Given the description of an element on the screen output the (x, y) to click on. 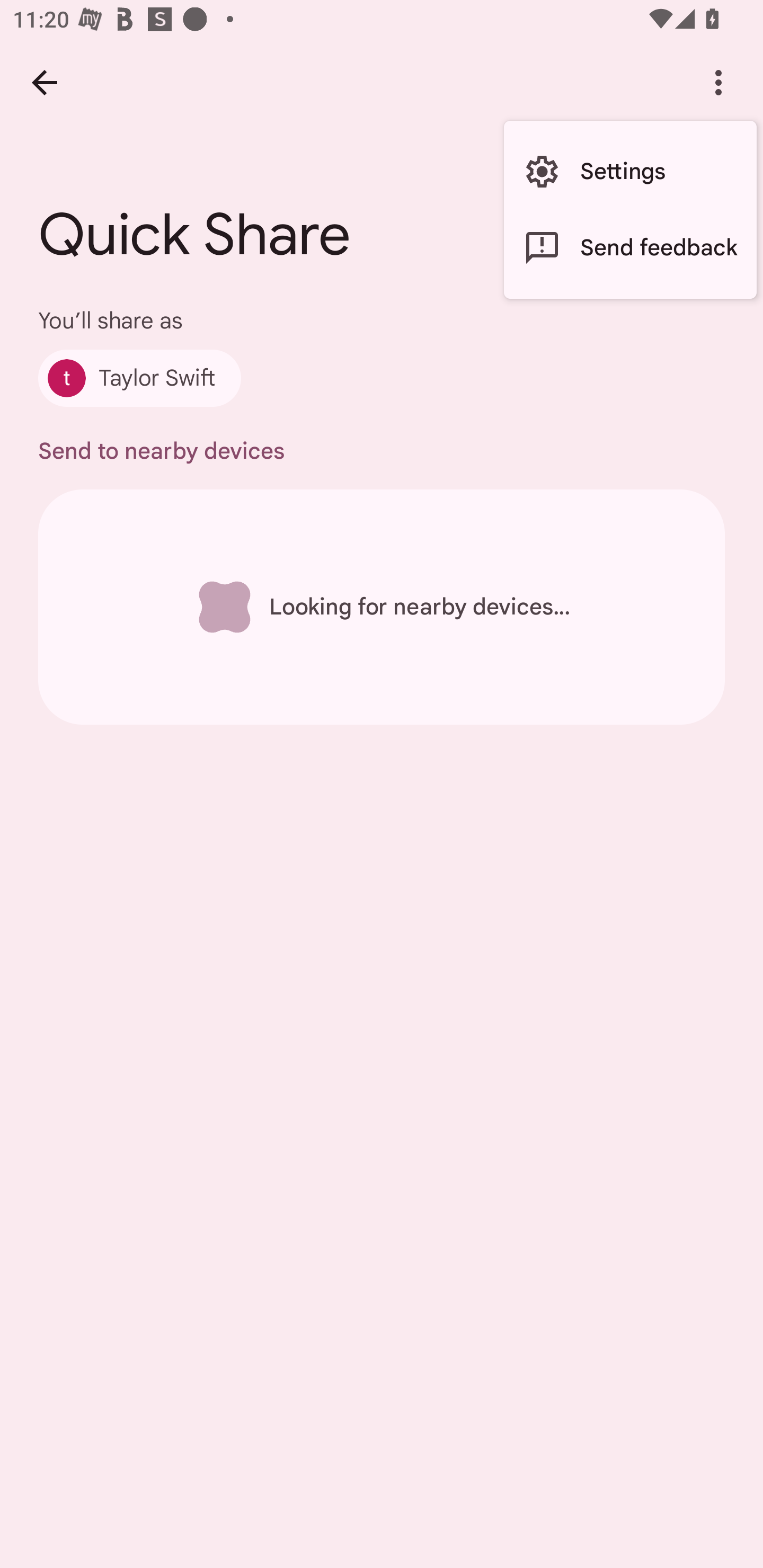
Settings (629, 171)
Send feedback (629, 247)
